Given the description of an element on the screen output the (x, y) to click on. 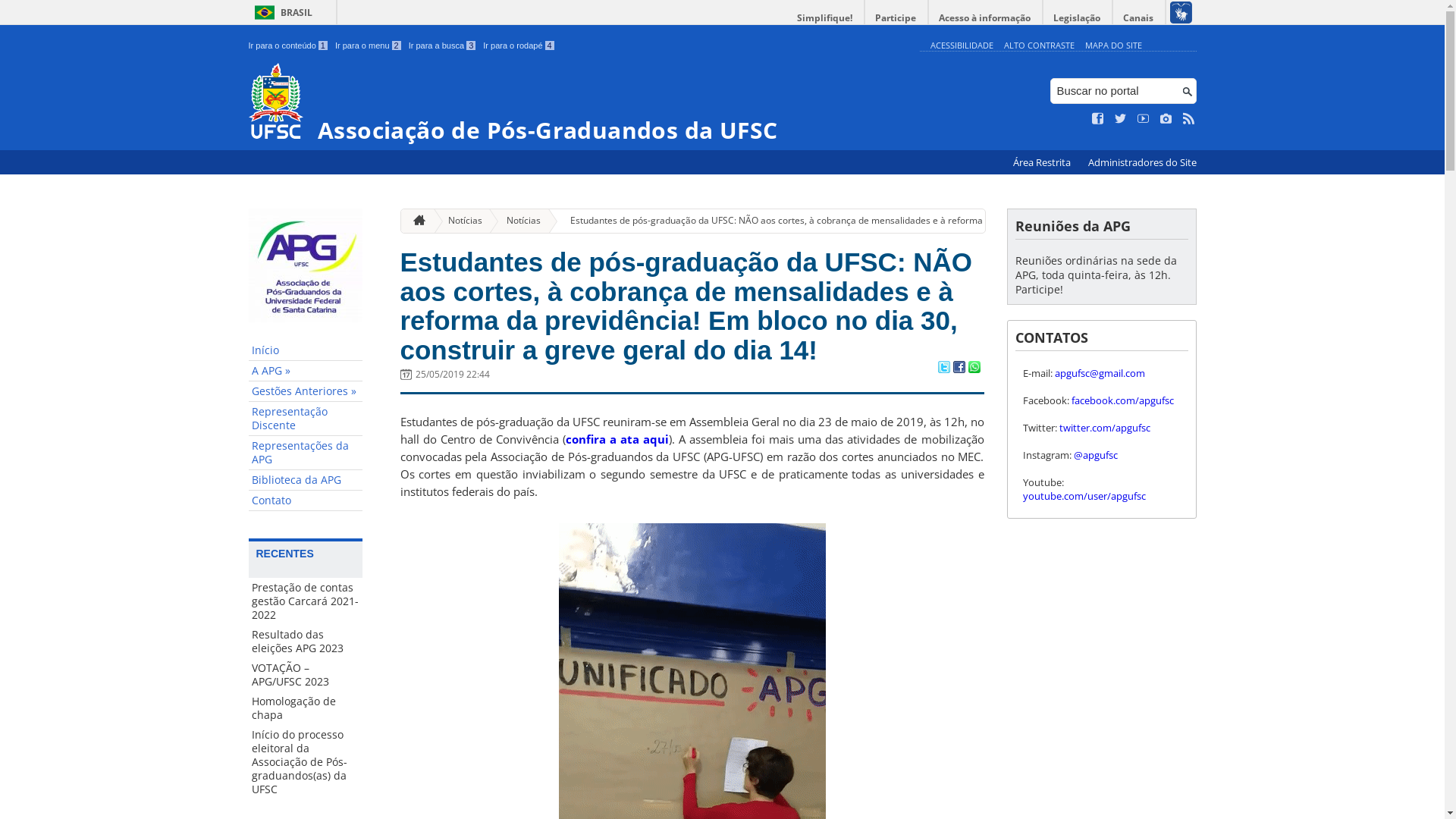
Ir para a busca 3 Element type: text (442, 45)
Curta no Facebook Element type: hover (1098, 118)
ACESSIBILIDADE Element type: text (960, 44)
MAPA DO SITE Element type: text (1112, 44)
Contato Element type: text (305, 500)
Compartilhar no Facebook Element type: hover (958, 368)
apgufsc@gmail.com Element type: text (1099, 372)
twitter.com/apgufsc Element type: text (1103, 427)
Biblioteca da APG Element type: text (305, 480)
Simplifique! Element type: text (825, 18)
Veja no Instagram Element type: hover (1166, 118)
Canais Element type: text (1138, 18)
Ir para o menu 2 Element type: text (368, 45)
Participe Element type: text (895, 18)
Siga no Twitter Element type: hover (1120, 118)
confira a ata aqui Element type: text (616, 438)
facebook.com/apgufsc Element type: text (1121, 400)
@apgufsc Element type: text (1095, 454)
ALTO CONTRASTE Element type: text (1039, 44)
youtube.com/user/apgufsc Element type: text (1083, 495)
Administradores do Site Element type: text (1141, 162)
BRASIL Element type: text (280, 12)
Compartilhar no WhatsApp Element type: hover (973, 368)
Compartilhar no Twitter Element type: hover (943, 368)
